Given the description of an element on the screen output the (x, y) to click on. 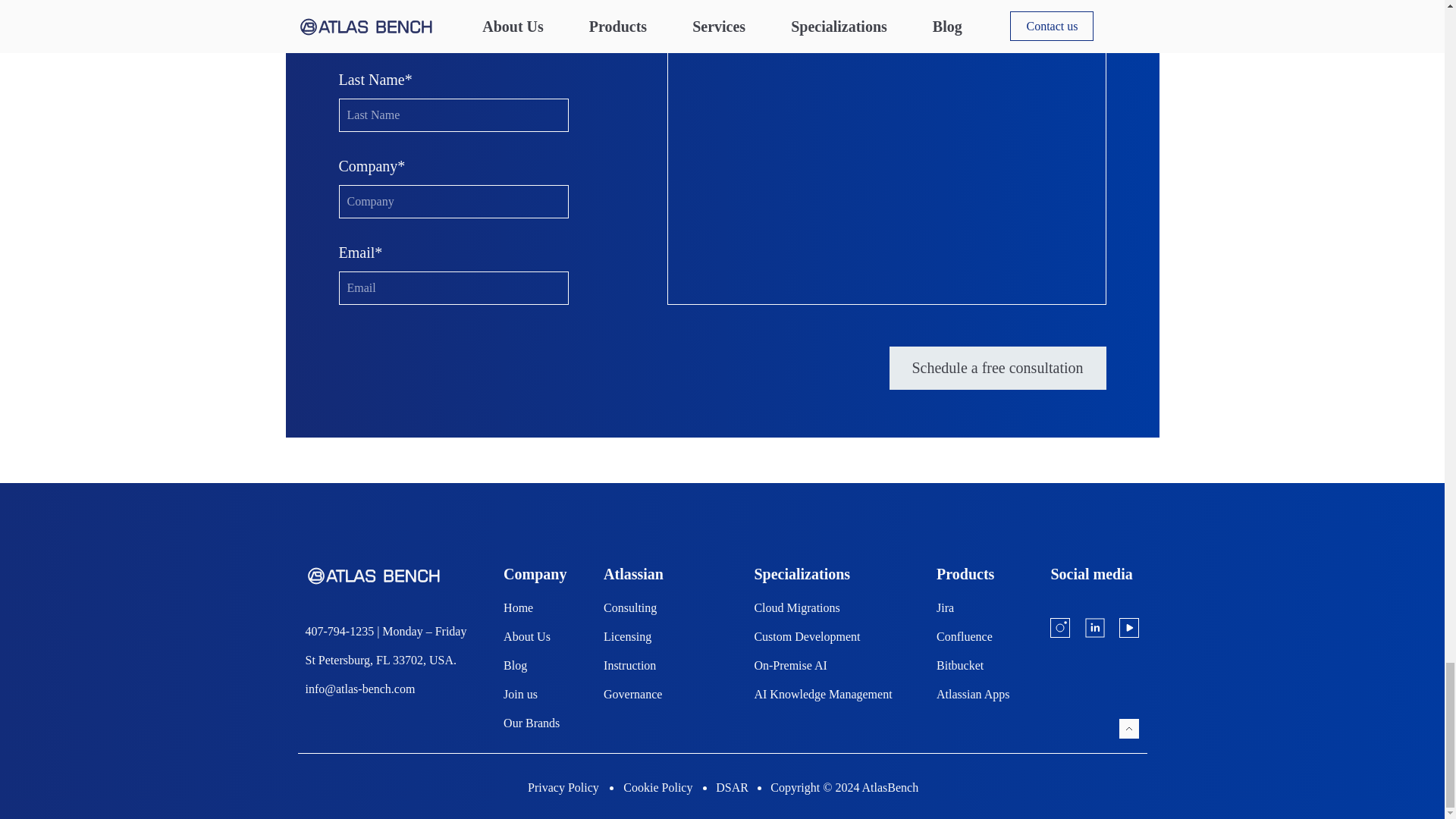
Custom Development (826, 636)
On-Premise AI (826, 665)
Atlassian Governance (660, 694)
Home (534, 608)
Custom Development (826, 636)
Licensing (660, 636)
Confluence (974, 636)
On-Premise AI (826, 665)
About Us (534, 636)
Atlassian Instruction (660, 665)
DSAR (732, 787)
Consulting (660, 608)
Atlassian Apps (974, 694)
Confluence (974, 636)
Cookie Policy (658, 787)
